Given the description of an element on the screen output the (x, y) to click on. 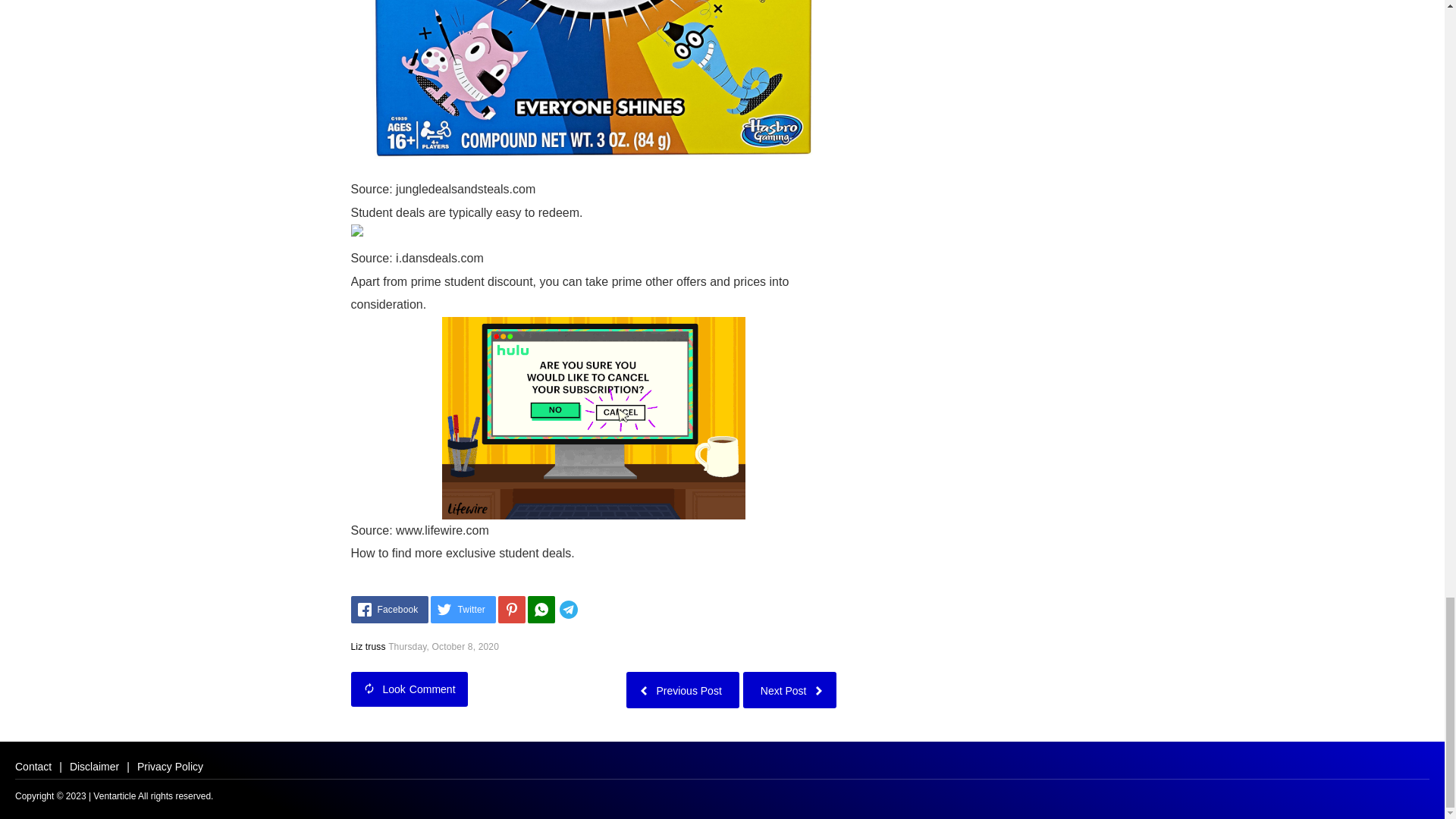
Previous Post (682, 689)
Facebook (389, 609)
Newer Post (788, 689)
author profile (367, 646)
Share on Pinterest (511, 609)
Share to Telegram (590, 609)
Liz truss (367, 646)
Telegram (590, 609)
Older Post (682, 689)
Twitter (462, 609)
